Given the description of an element on the screen output the (x, y) to click on. 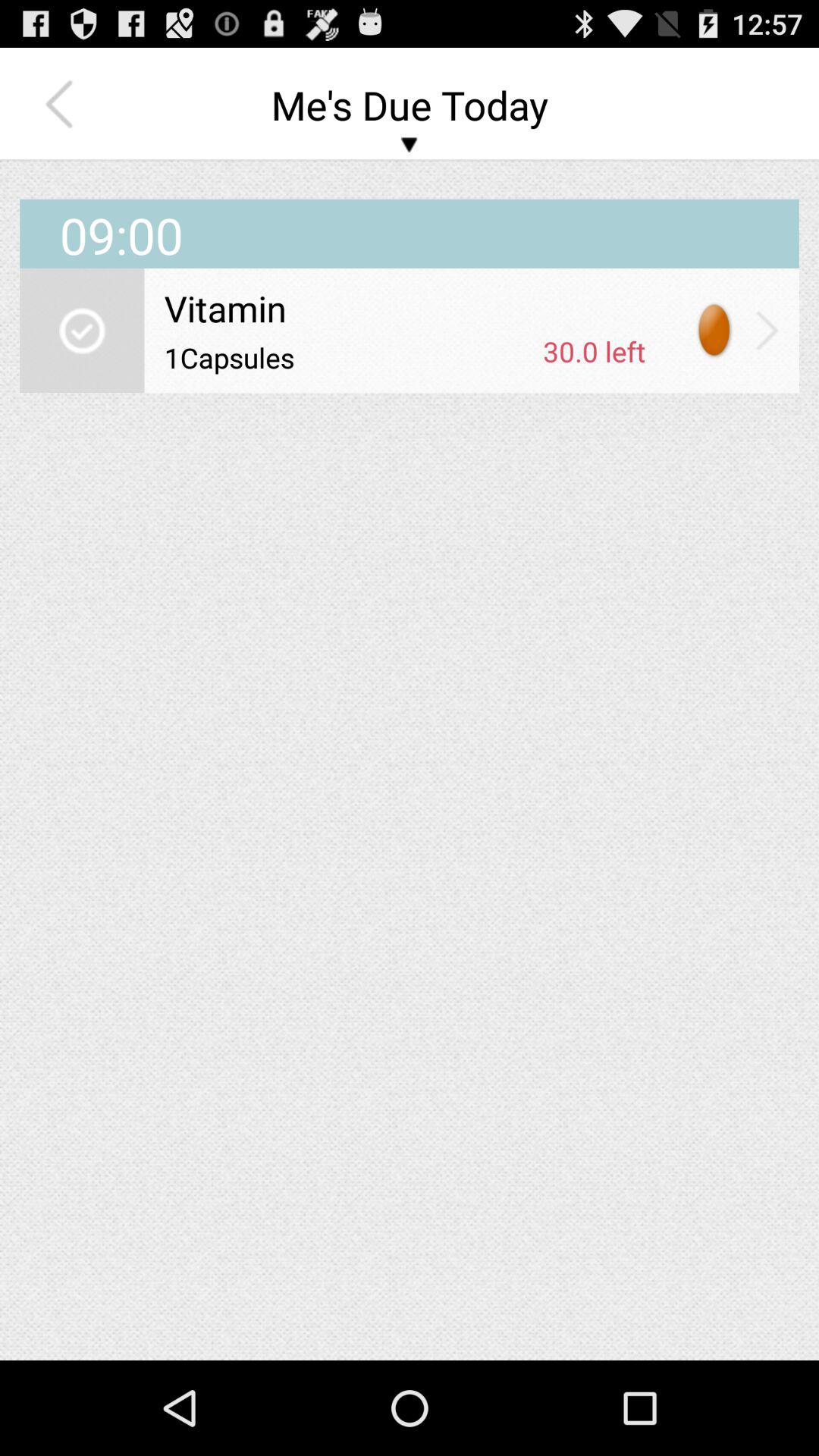
choose the icon next to 30.0 left app (348, 357)
